Given the description of an element on the screen output the (x, y) to click on. 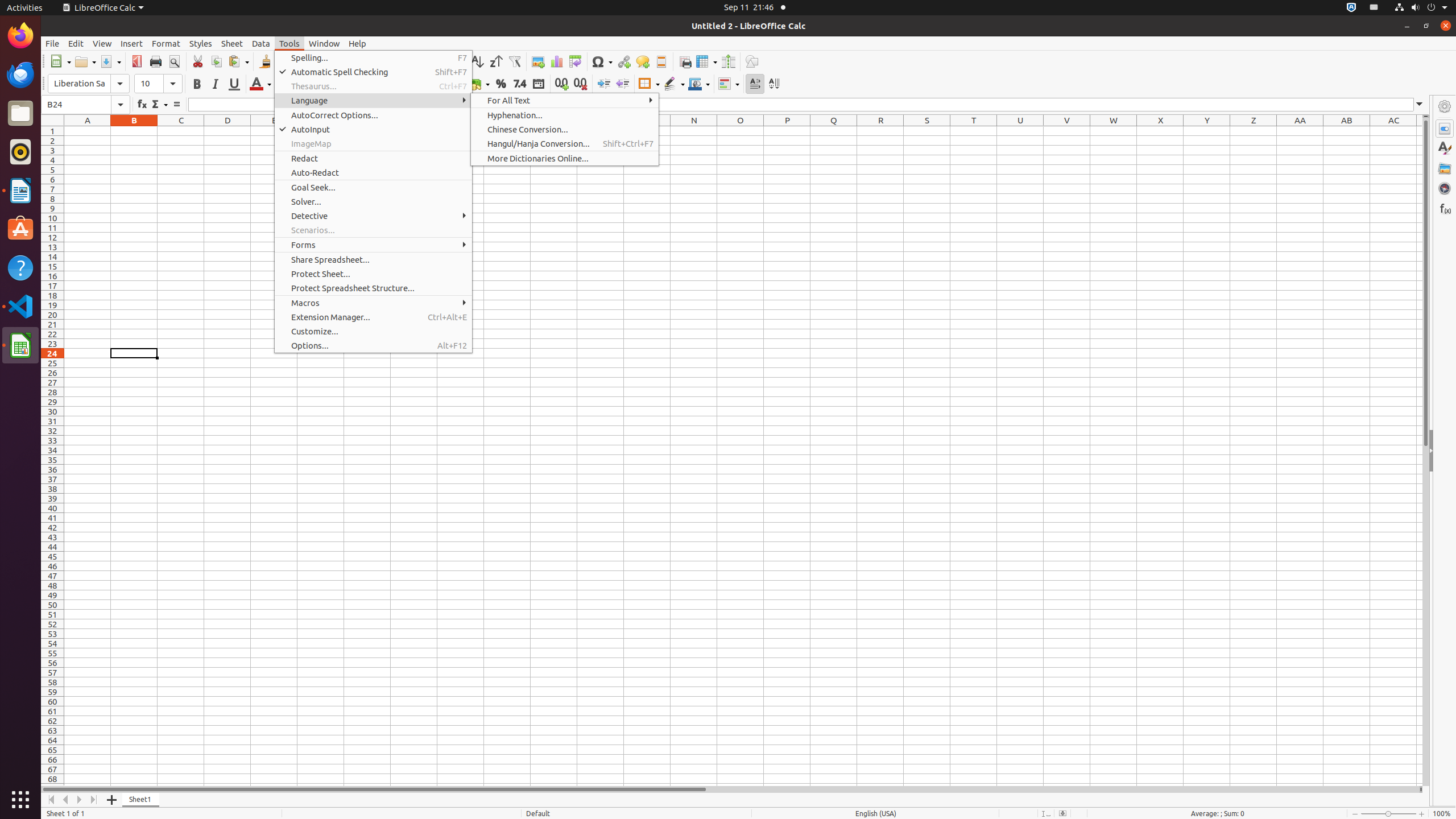
Open Element type: push-button (84, 61)
Auto-Redact Element type: menu-item (373, 172)
Tools Element type: menu (289, 43)
Functions Element type: radio-button (1444, 208)
